Given the description of an element on the screen output the (x, y) to click on. 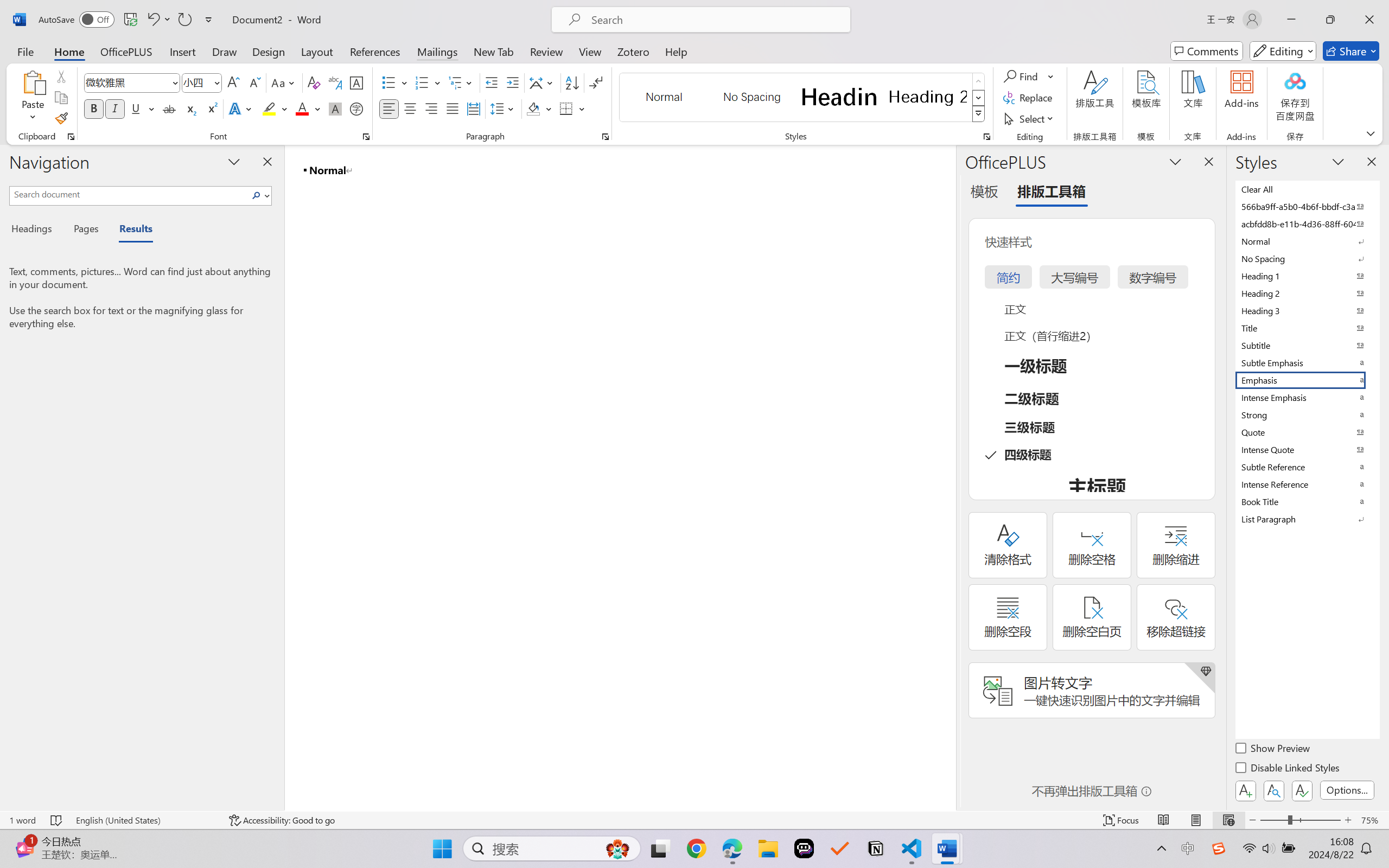
Share (1350, 51)
Quote (1306, 431)
Decrease Indent (491, 82)
Row Down (978, 97)
Save (130, 19)
Find (1029, 75)
Options... (1346, 789)
Zoom (1300, 819)
Paste (33, 97)
Zotero (632, 51)
Language English (United States) (144, 819)
Mailings (437, 51)
